Given the description of an element on the screen output the (x, y) to click on. 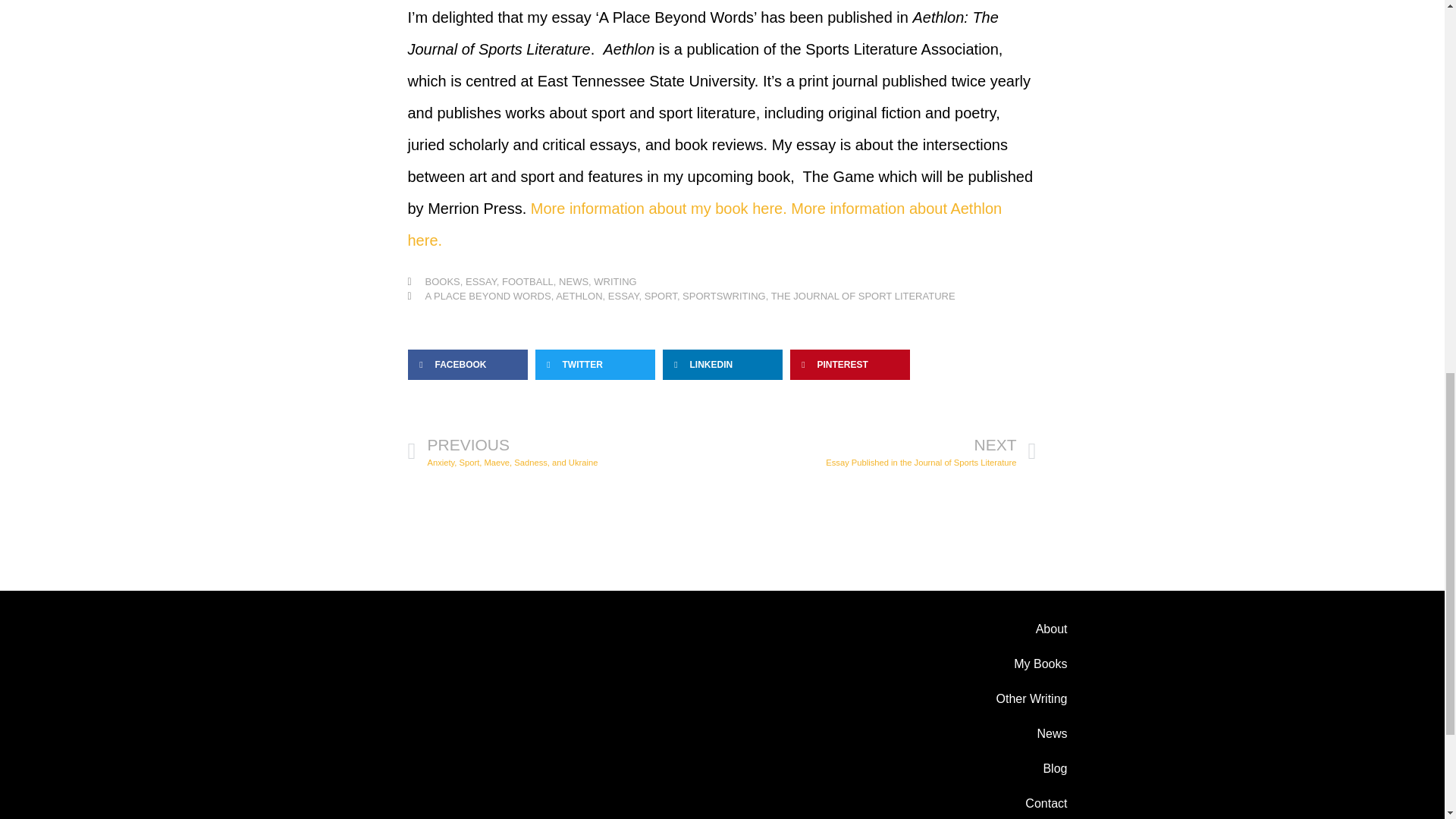
More information about my book here. (659, 208)
NEWS (879, 451)
SPORT (573, 281)
ESSAY (661, 296)
BOOKS (623, 296)
WRITING (442, 281)
THE JOURNAL OF SPORT LITERATURE (564, 451)
A PLACE BEYOND WORDS (615, 281)
Blog (863, 296)
SPORTSWRITING (487, 296)
FOOTBALL (963, 768)
AETHLON (723, 296)
Other Writing (527, 281)
